Given the description of an element on the screen output the (x, y) to click on. 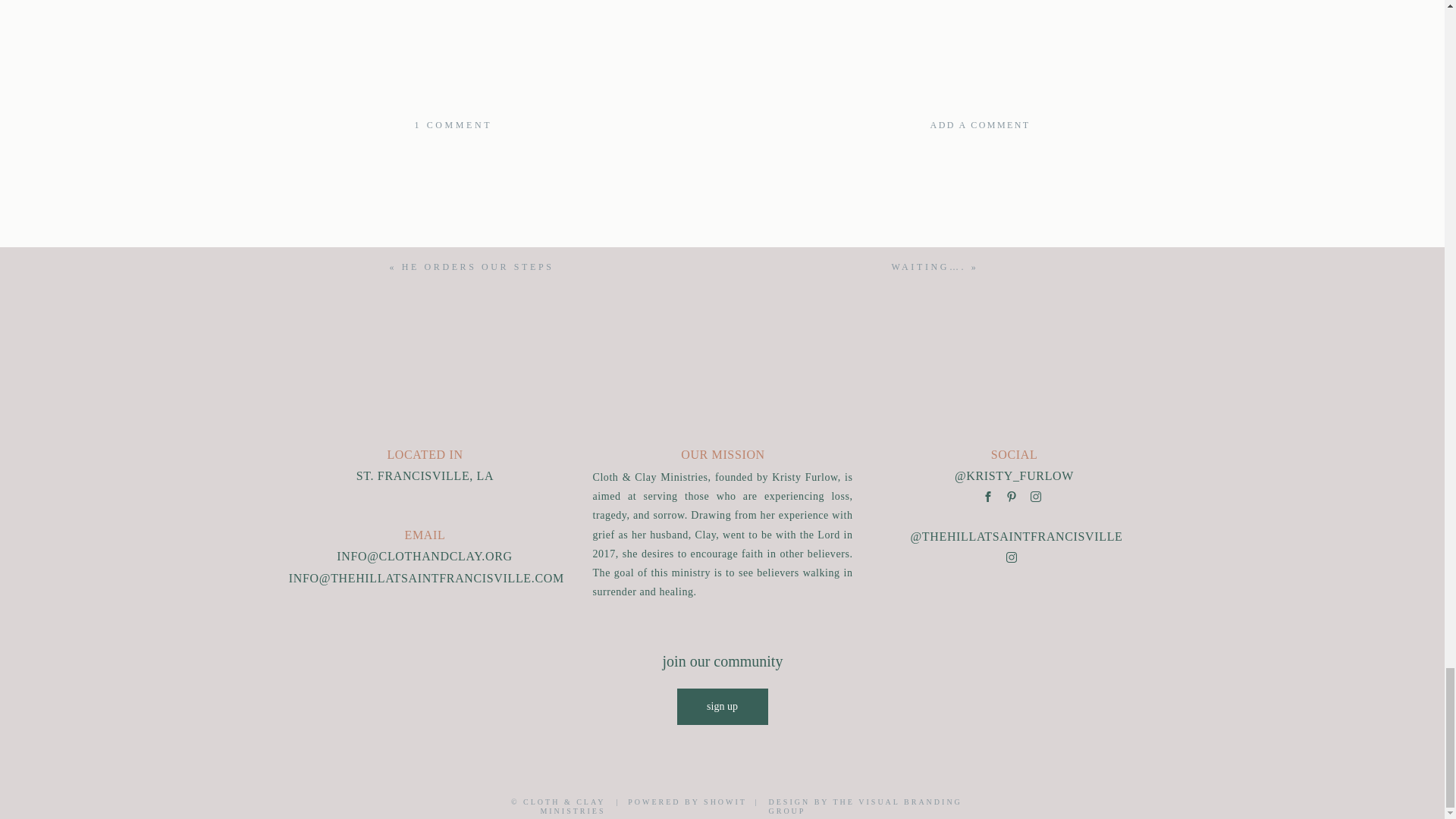
ADD A COMMENT (883, 124)
DESIGN BY THE VISUAL BRANDING GROUP (452, 124)
sign up (884, 802)
HE ORDERS OUR STEPS (722, 706)
join our community (477, 266)
